Given the description of an element on the screen output the (x, y) to click on. 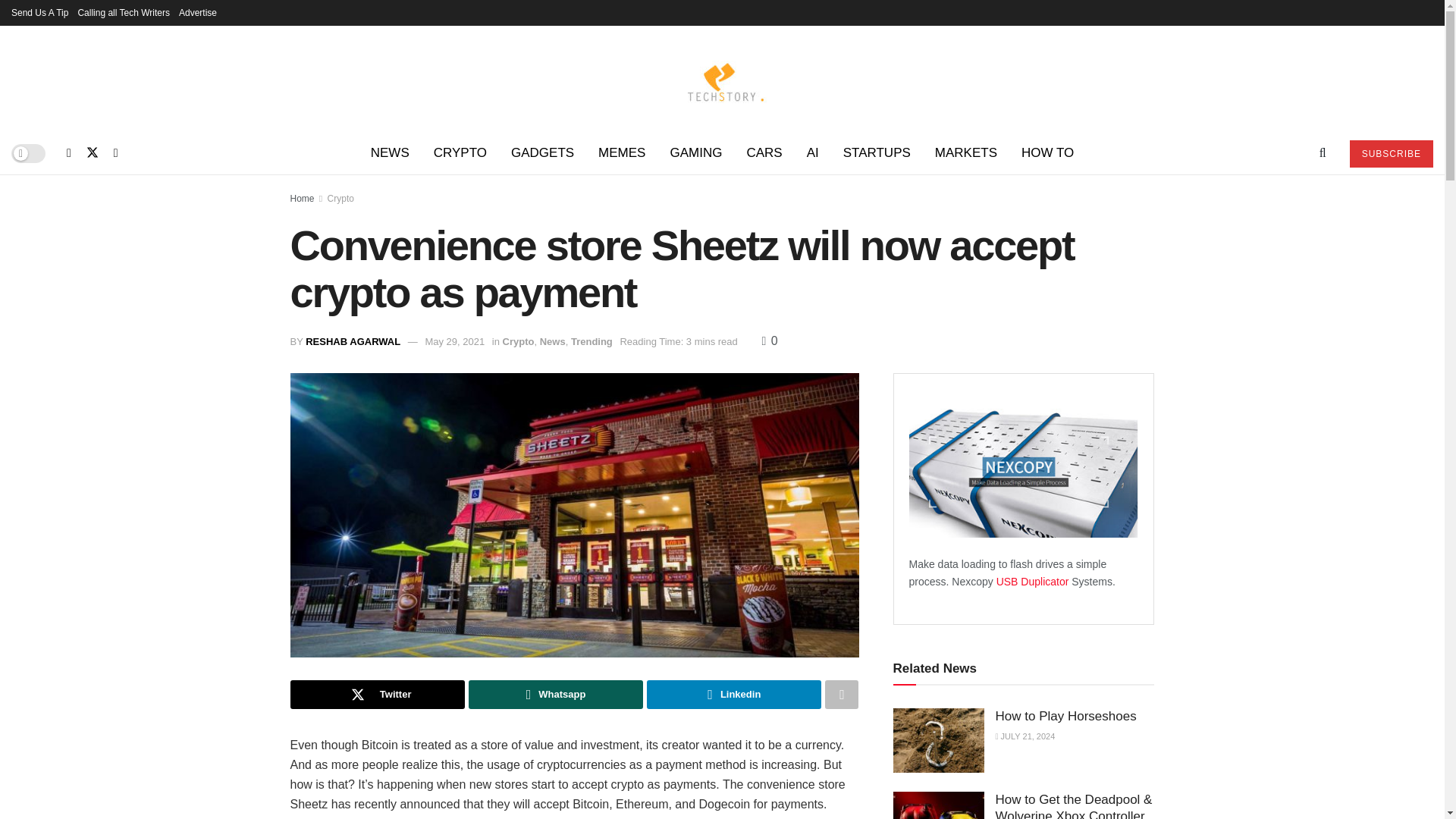
USB duplicator (1033, 581)
HOW TO (1047, 152)
Home (301, 198)
RESHAB AGARWAL (352, 341)
MARKETS (966, 152)
Send Us A Tip (39, 12)
GADGETS (542, 152)
STARTUPS (877, 152)
CRYPTO (460, 152)
Calling all Tech Writers (123, 12)
NEWS (390, 152)
Crypto (340, 198)
MEMES (622, 152)
Advertise (197, 12)
SUBSCRIBE (1390, 153)
